Given the description of an element on the screen output the (x, y) to click on. 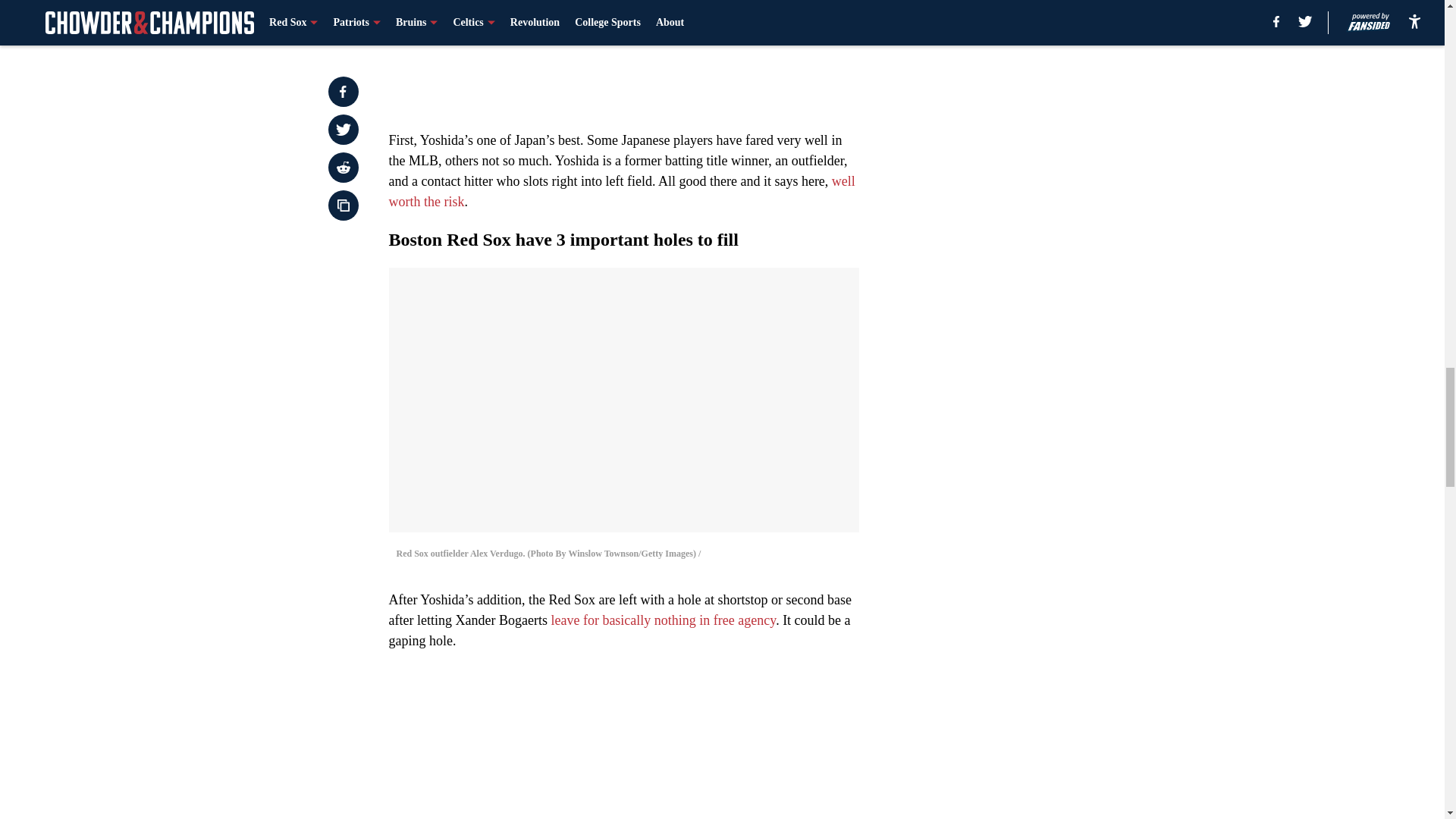
leave for basically nothing in free agency (661, 620)
well worth the risk (621, 191)
